Given the description of an element on the screen output the (x, y) to click on. 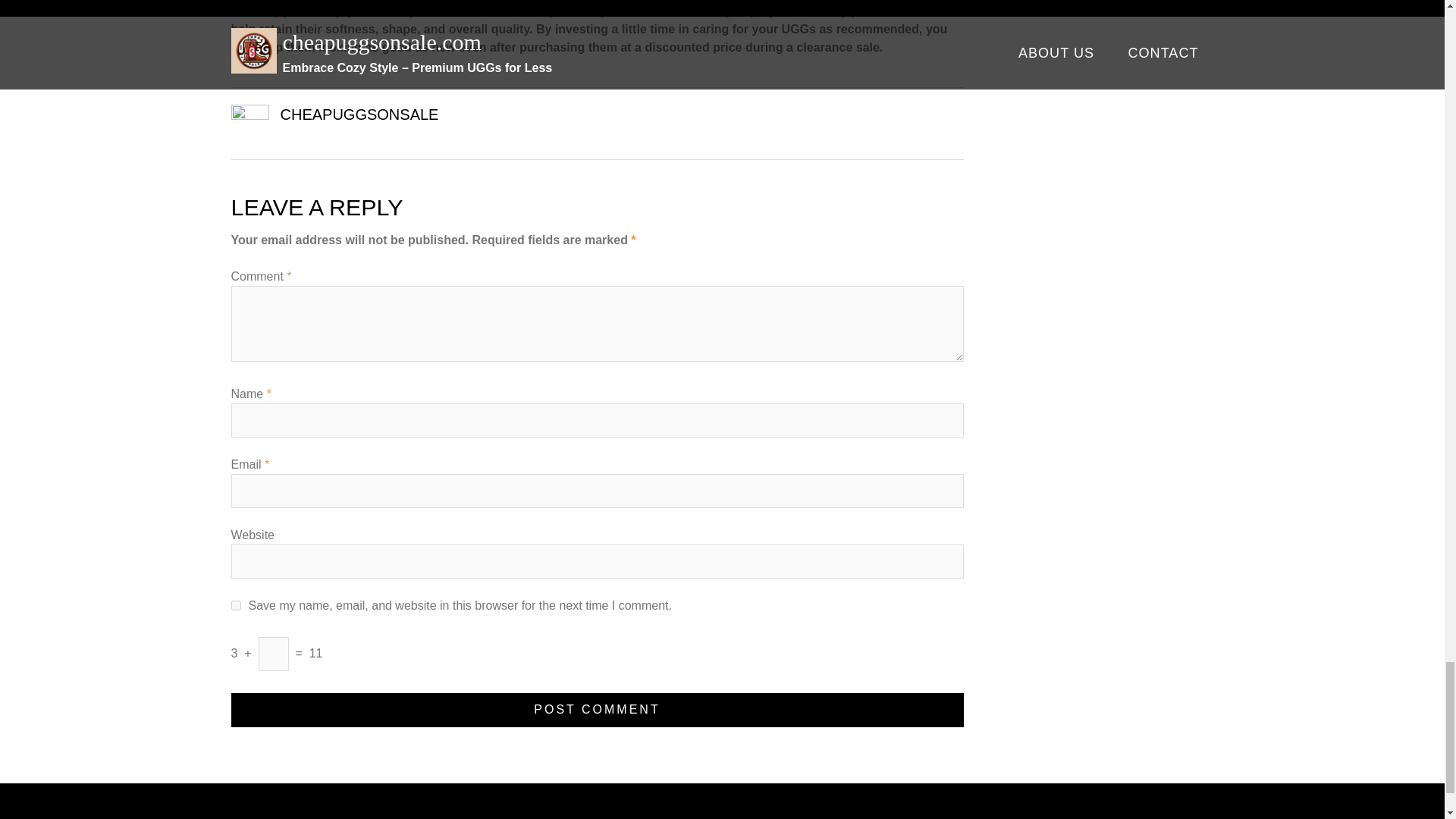
yes (235, 605)
Post Comment (596, 709)
